Given the description of an element on the screen output the (x, y) to click on. 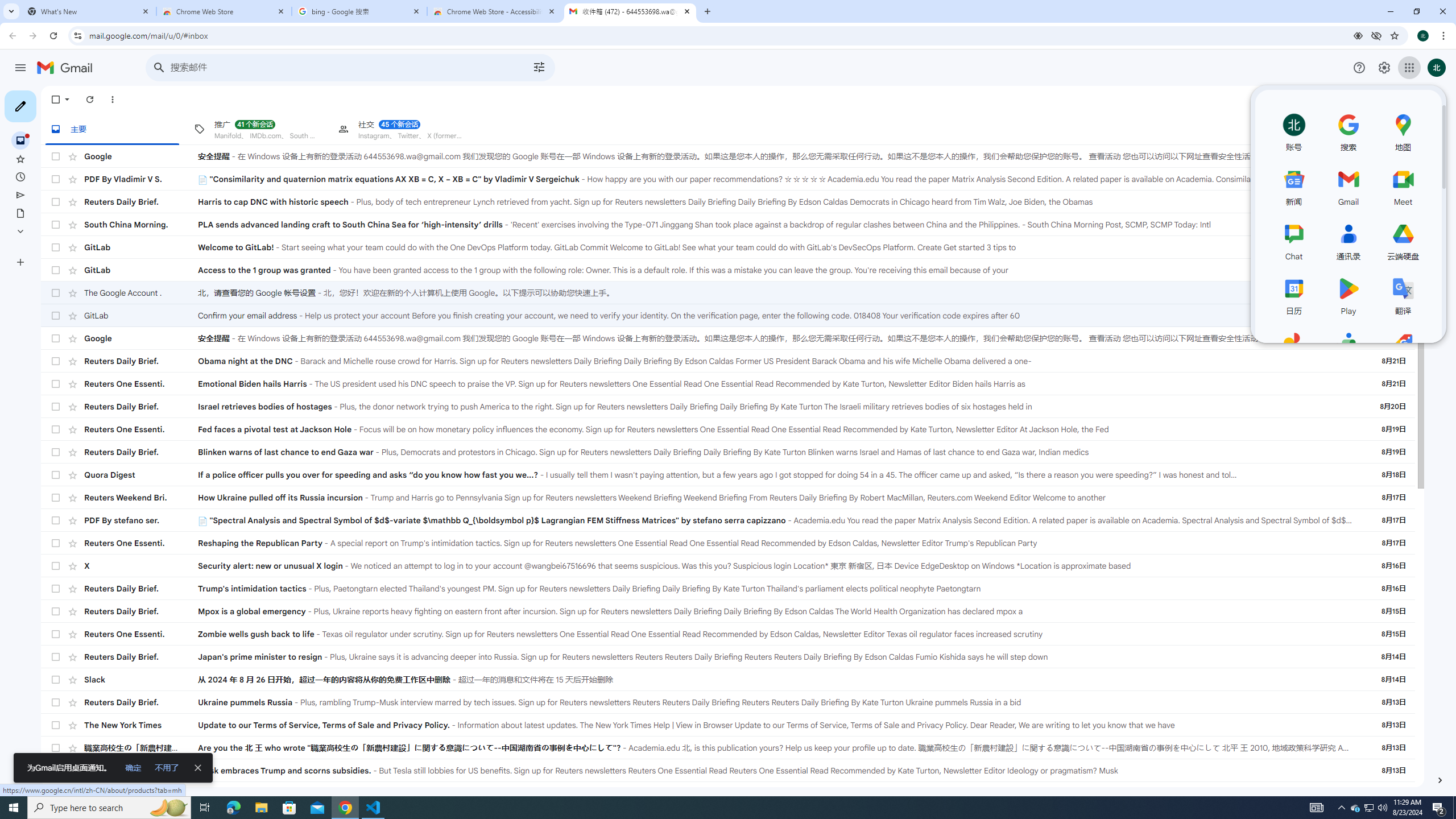
Minimize (1390, 11)
Gmail (67, 68)
